Given the description of an element on the screen output the (x, y) to click on. 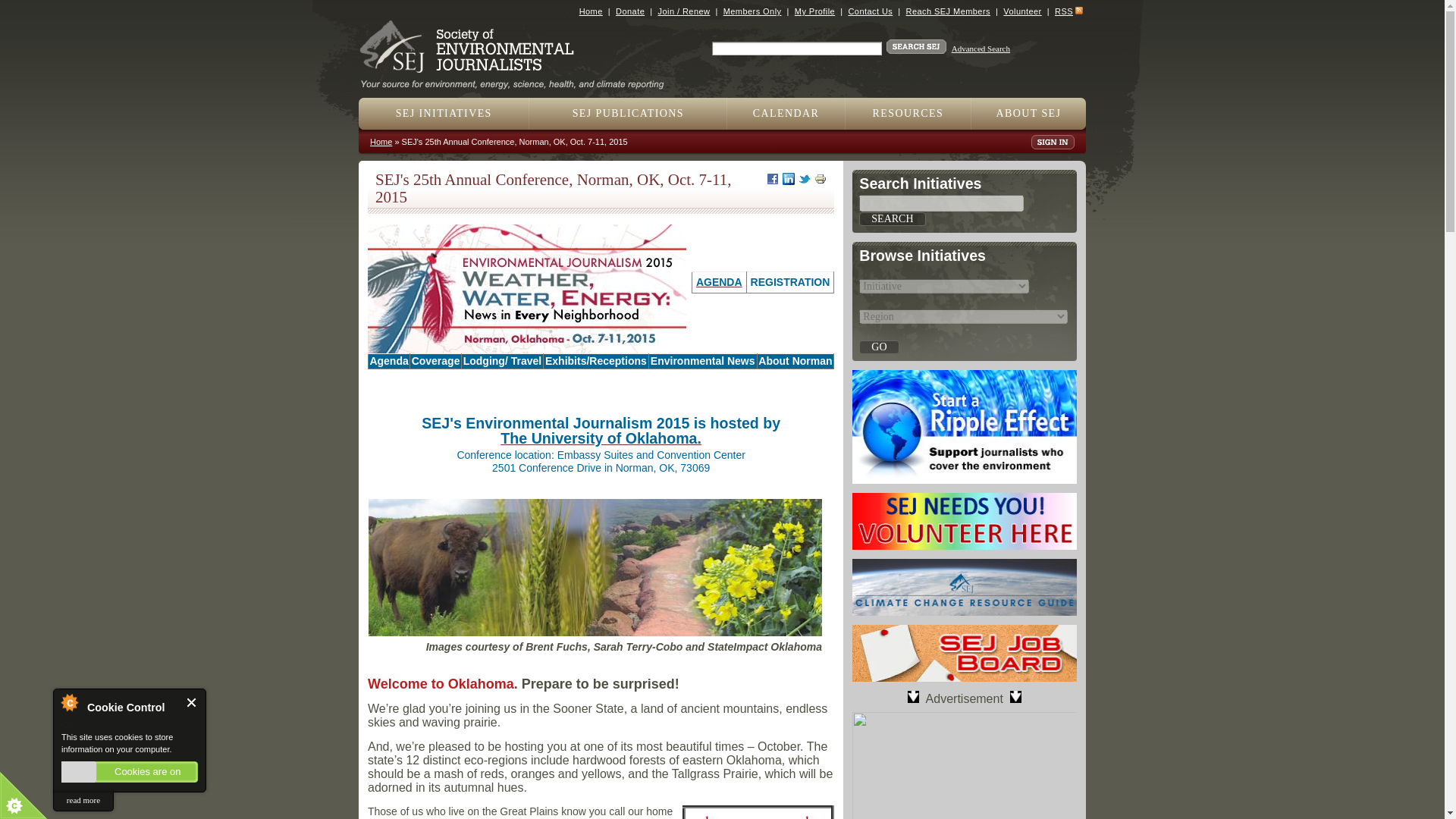
Donate (630, 10)
read more (82, 801)
Search (891, 219)
My Profile (814, 10)
Home (518, 79)
Contact Us (869, 10)
Go (878, 346)
Reach SEJ Members (947, 10)
Enter the terms you wish to search for. (796, 48)
Home (590, 10)
SEJ PUBLICATIONS (627, 113)
Volunteer (1022, 10)
Advanced Search (981, 48)
Close (191, 702)
Cookies are on (129, 772)
